Given the description of an element on the screen output the (x, y) to click on. 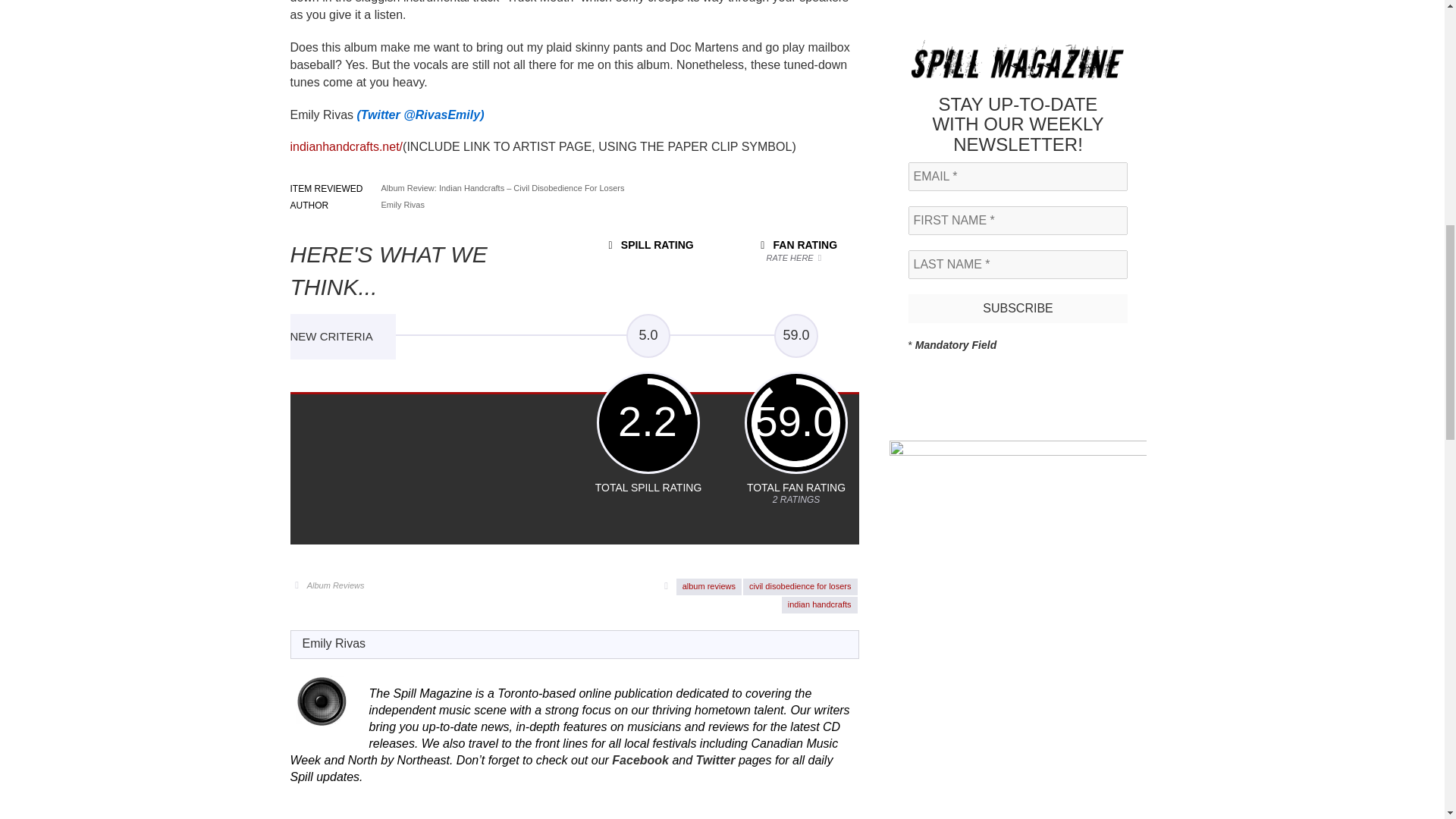
SUBSCRIBE (1018, 308)
